Given the description of an element on the screen output the (x, y) to click on. 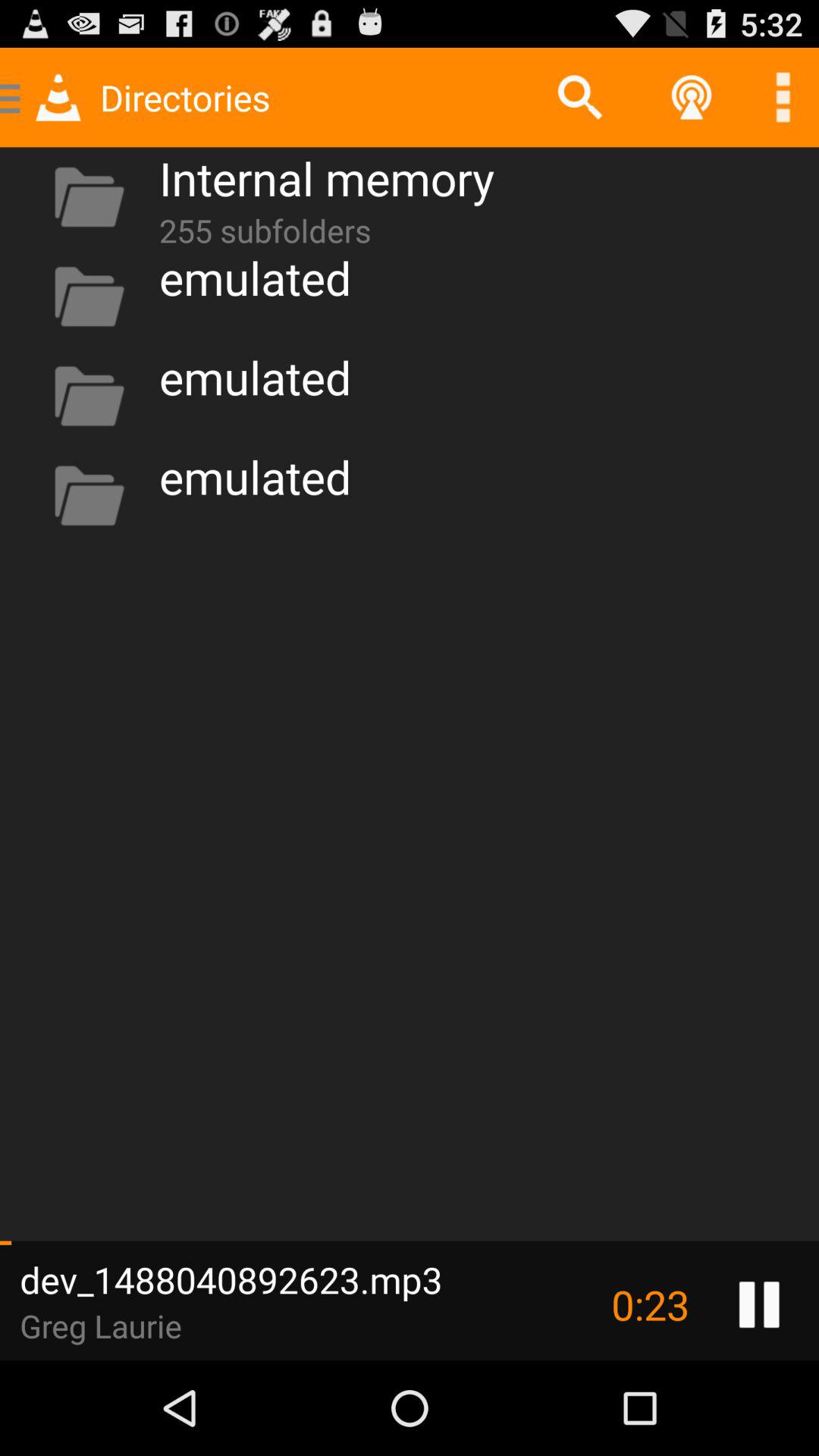
scroll to the 255 subfolders (265, 227)
